Given the description of an element on the screen output the (x, y) to click on. 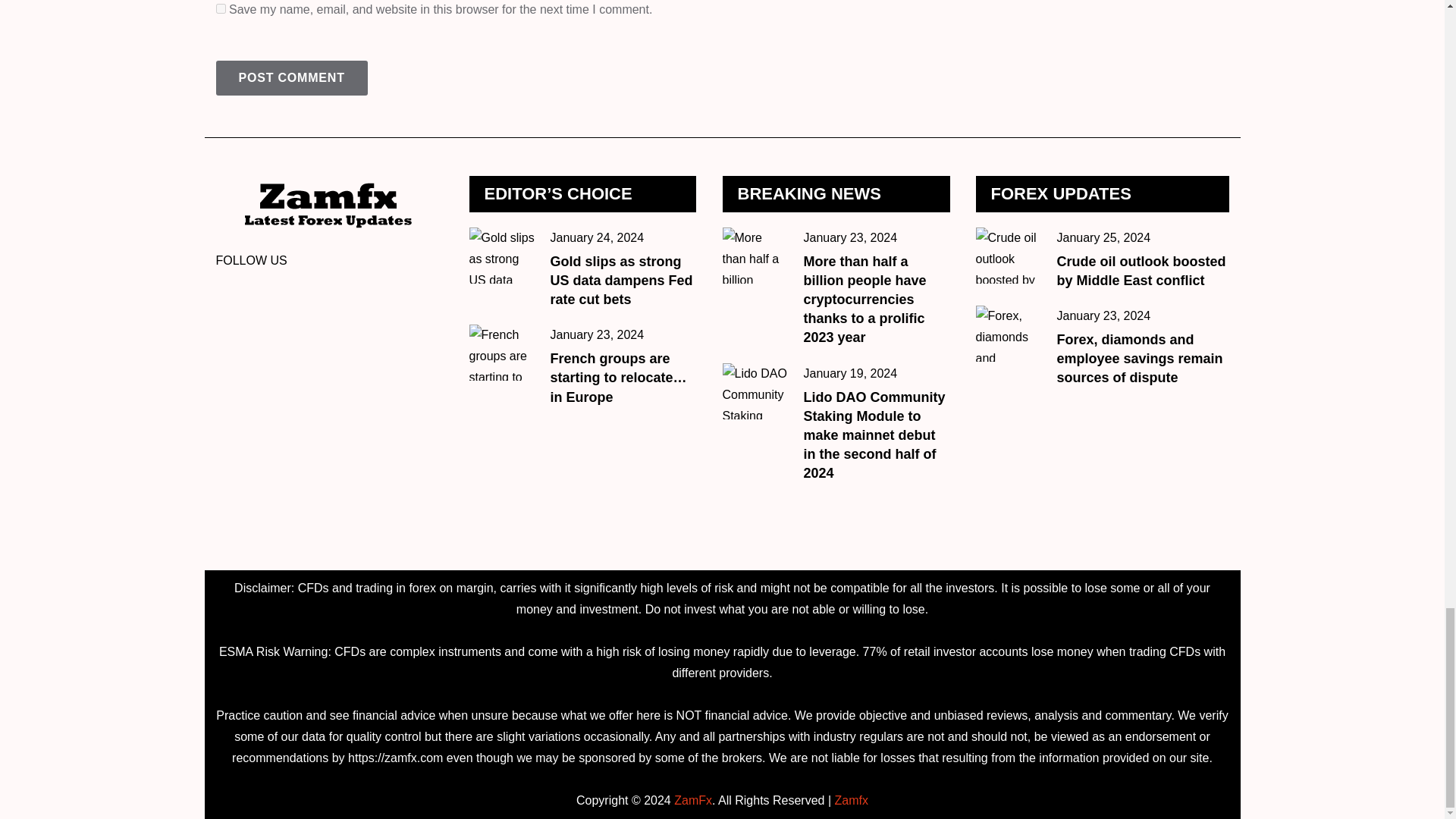
Post Comment (290, 77)
yes (220, 8)
Post Comment (290, 77)
